Given the description of an element on the screen output the (x, y) to click on. 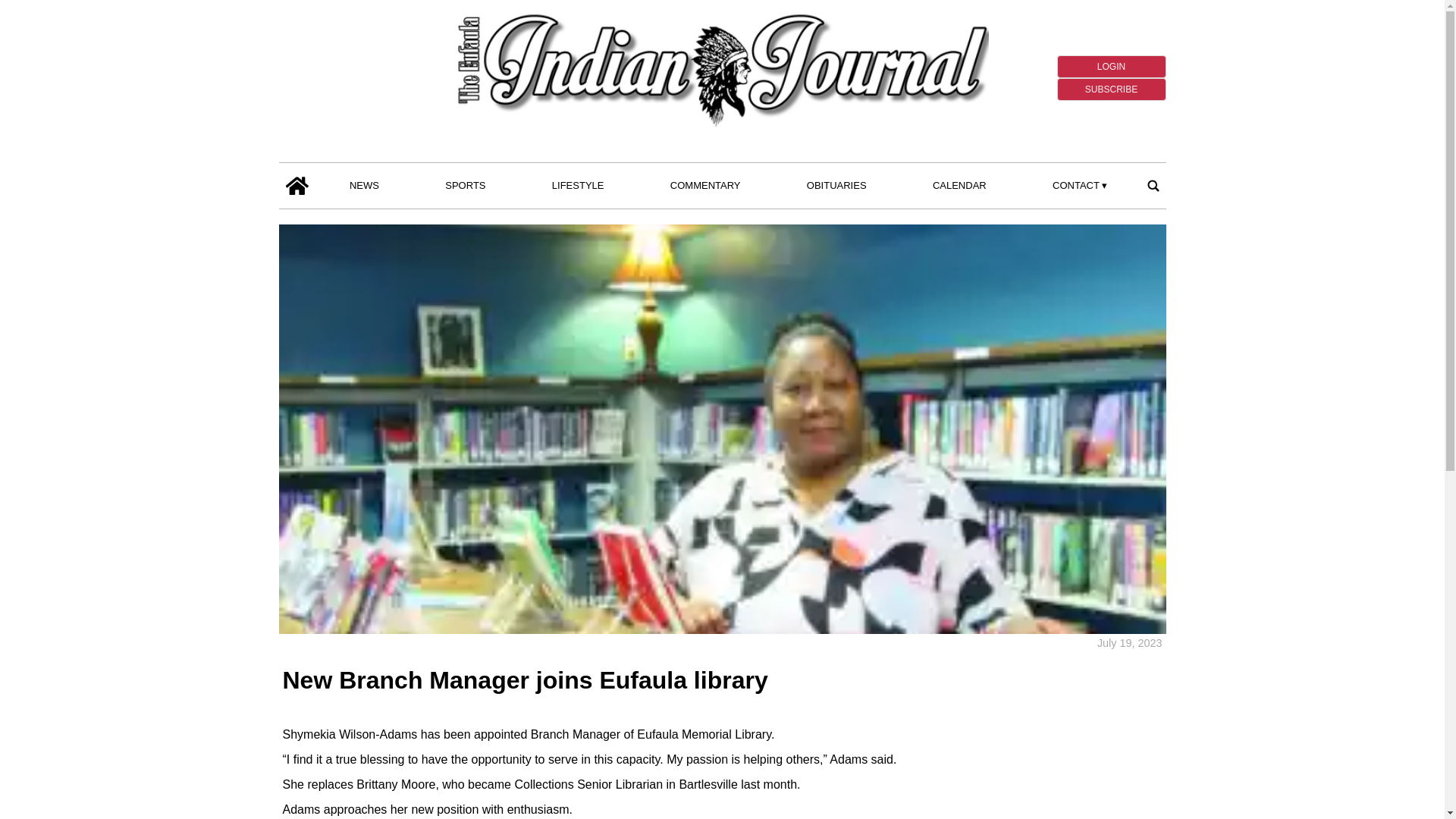
CALENDAR (959, 185)
SPORTS (465, 185)
CONTACT (1080, 185)
OBITUARIES (836, 185)
LOGIN (1111, 66)
SUBSCRIBE (1111, 88)
LIFESTYLE (577, 185)
NEWS (363, 185)
COMMENTARY (705, 185)
